Given the description of an element on the screen output the (x, y) to click on. 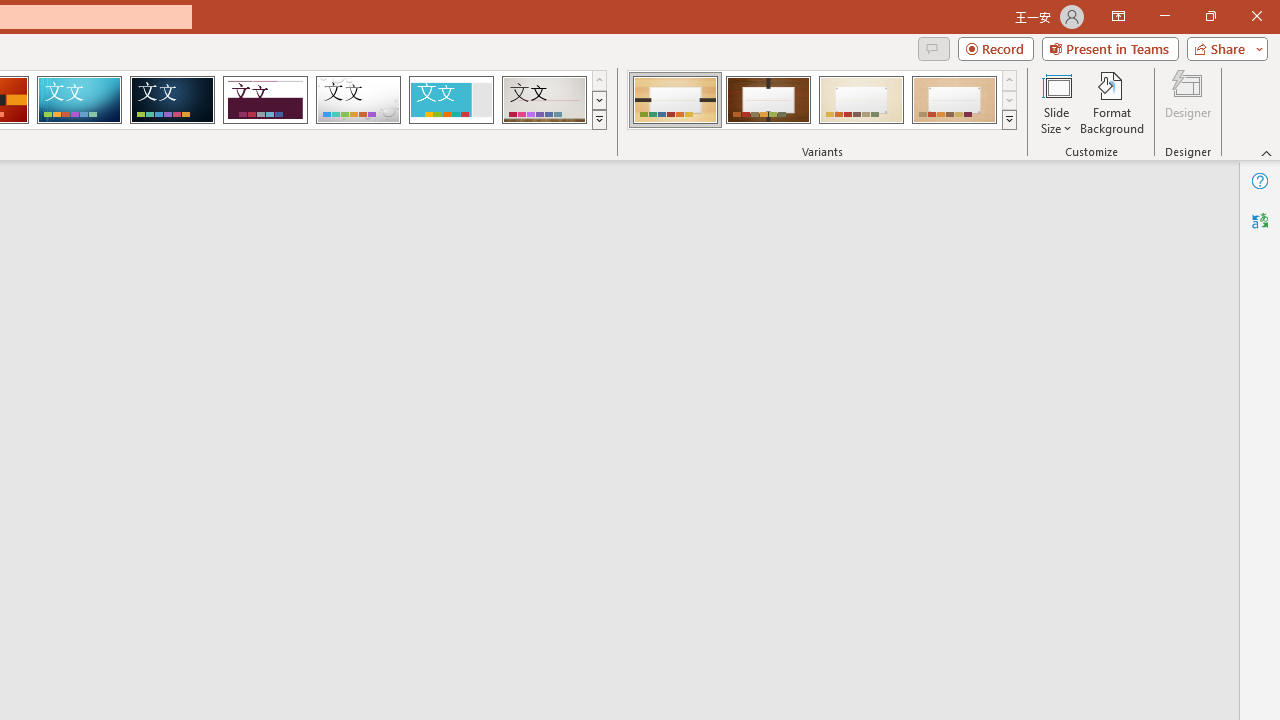
Organic Variant 1 (674, 100)
Circuit (79, 100)
Themes (598, 120)
Organic Variant 4 (953, 100)
Variants (1009, 120)
Gallery (544, 100)
Slide Size (1056, 102)
